Given the description of an element on the screen output the (x, y) to click on. 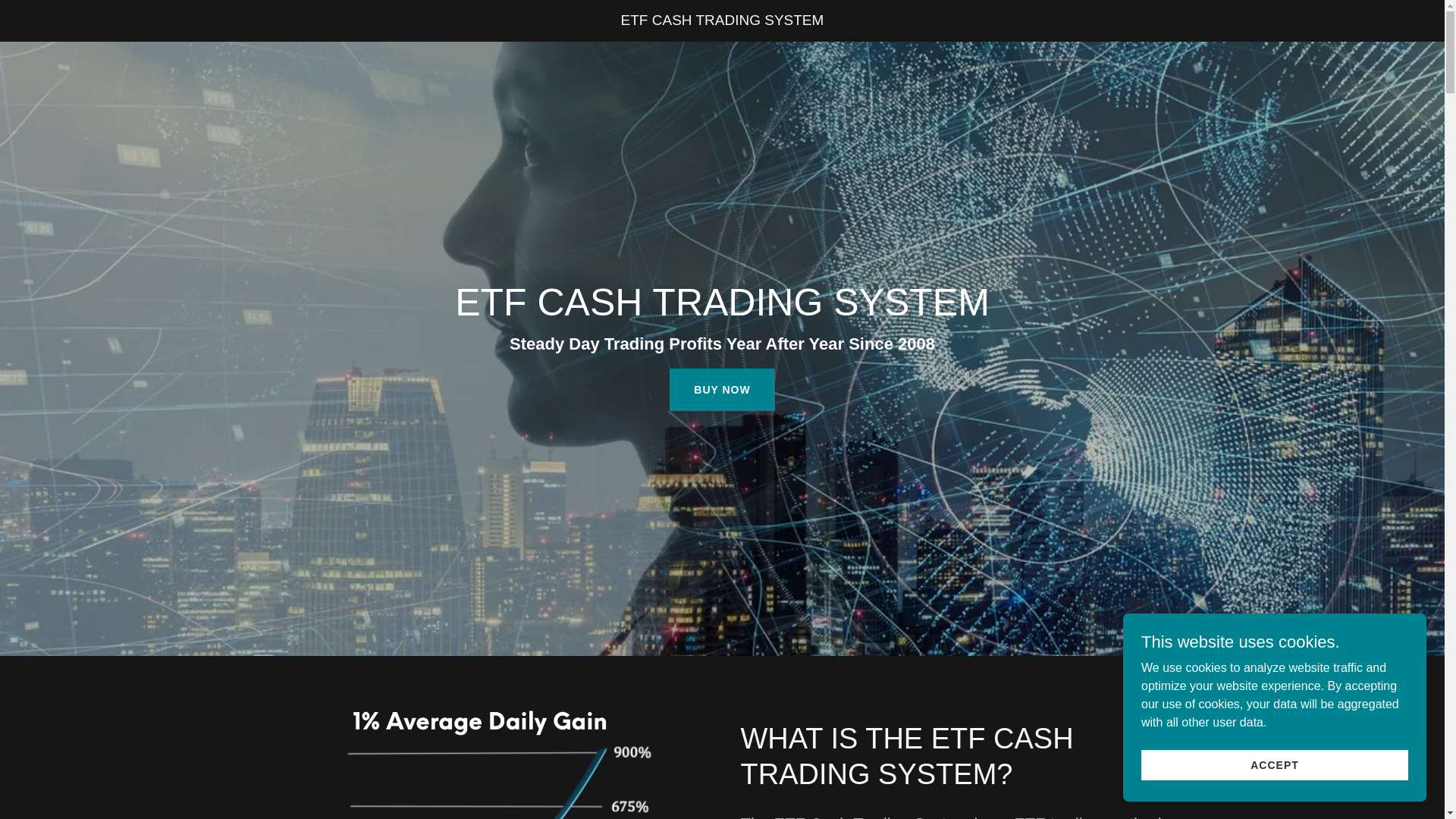
BUY NOW (721, 389)
ETF Cash Trading System (721, 20)
ETF CASH TRADING SYSTEM (721, 20)
ACCEPT (1274, 764)
